Given the description of an element on the screen output the (x, y) to click on. 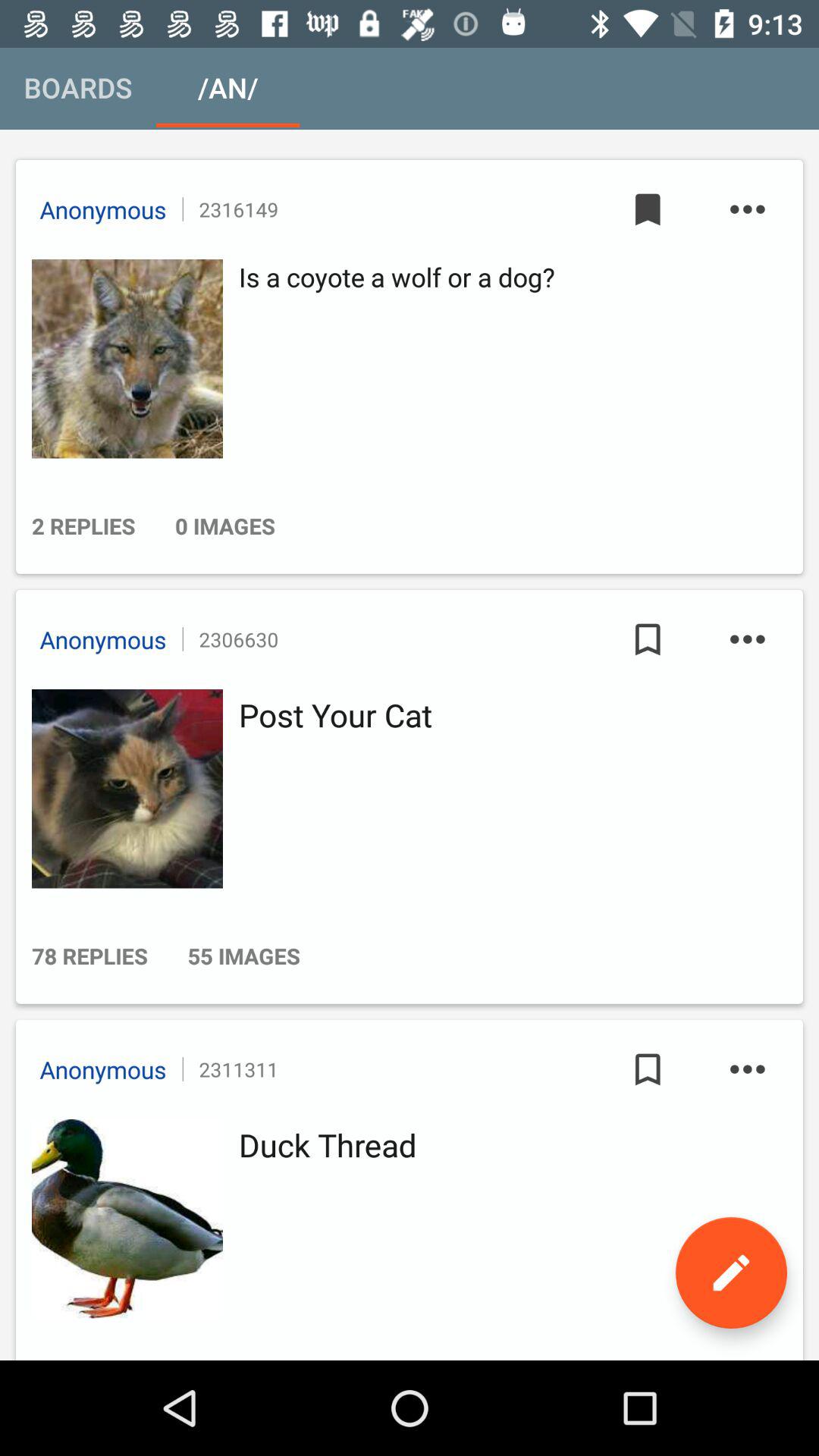
open the profile image (122, 788)
